Given the description of an element on the screen output the (x, y) to click on. 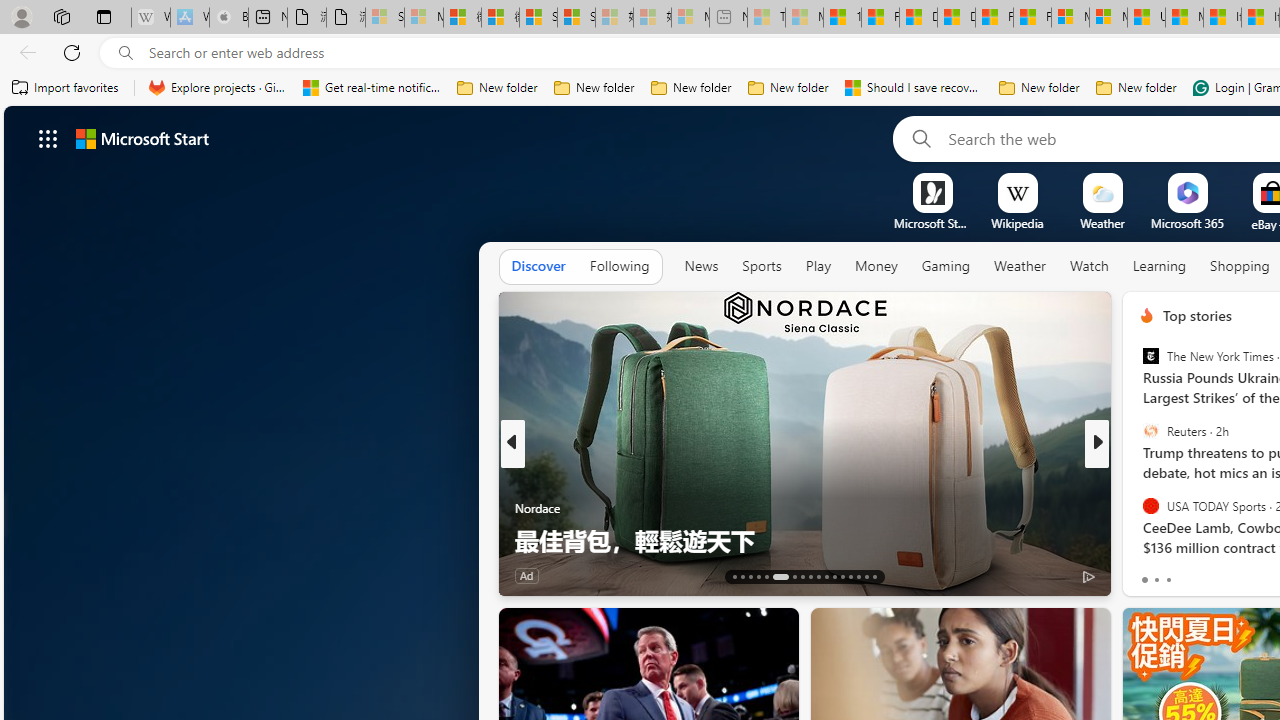
tab-0 (1143, 579)
Microsoft account | Account Checkup - Sleeping (690, 17)
Simply More Time (1138, 507)
115 Like (1151, 574)
View comments 14 Comment (1234, 575)
Salon (1138, 475)
View comments 8 Comment (1229, 575)
View comments 66 Comment (1234, 575)
